Given the description of an element on the screen output the (x, y) to click on. 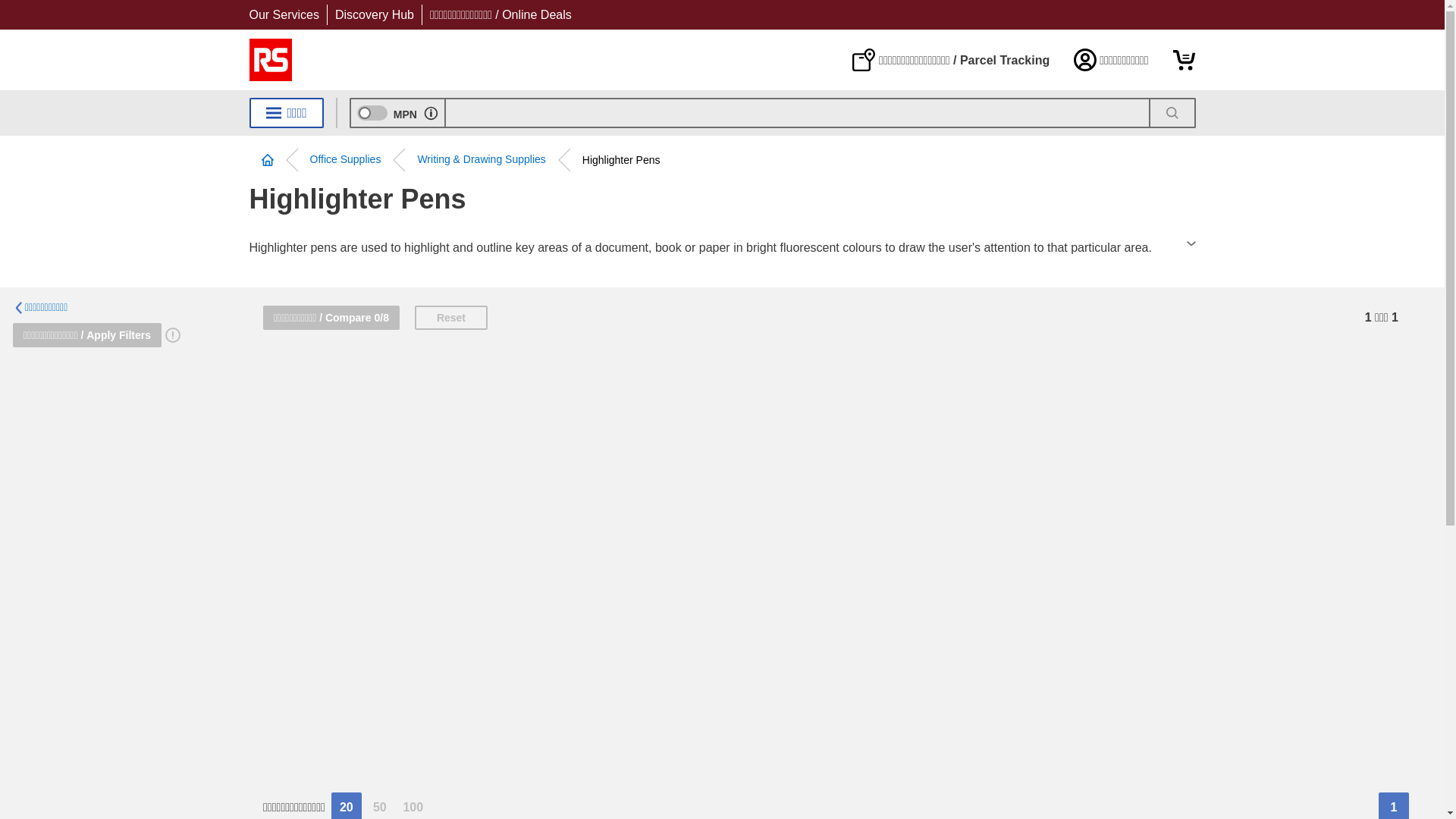
Discovery Hub (373, 14)
Our Services (283, 14)
